Given the description of an element on the screen output the (x, y) to click on. 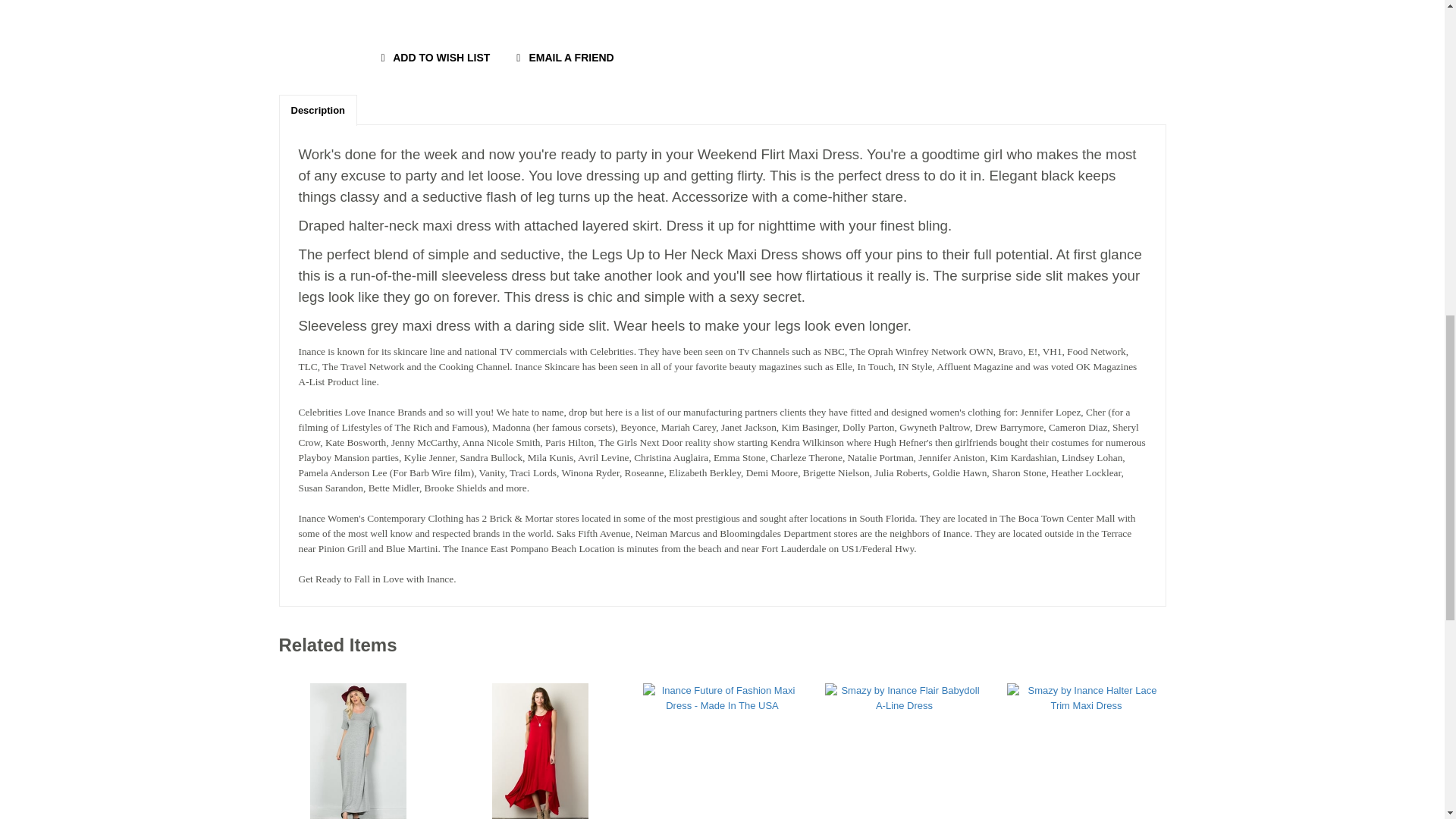
ADD TO WISH LIST (433, 58)
EMAIL A FRIEND (562, 58)
